Given the description of an element on the screen output the (x, y) to click on. 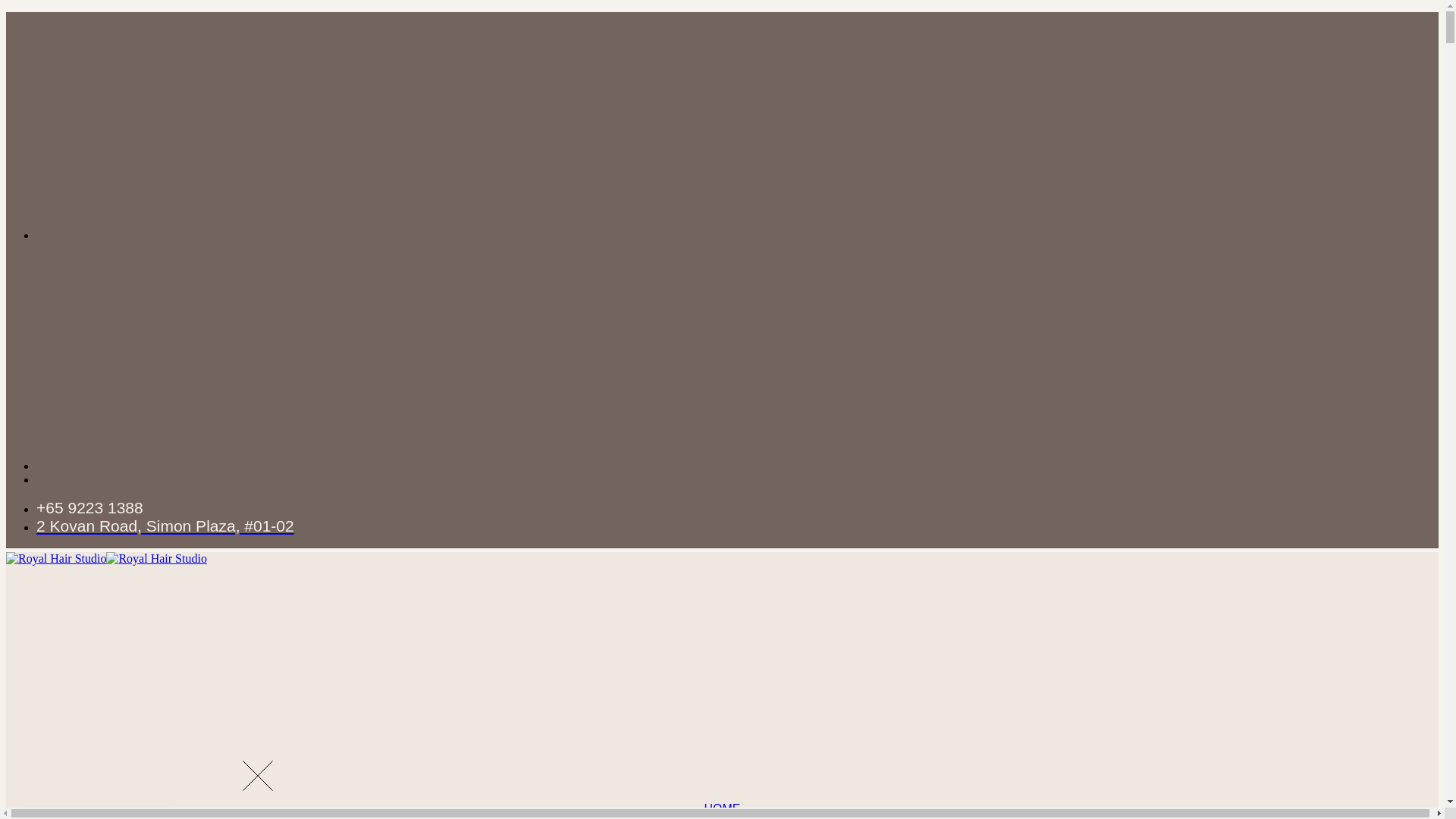
SERVICES (722, 816)
HOME (721, 806)
